Given the description of an element on the screen output the (x, y) to click on. 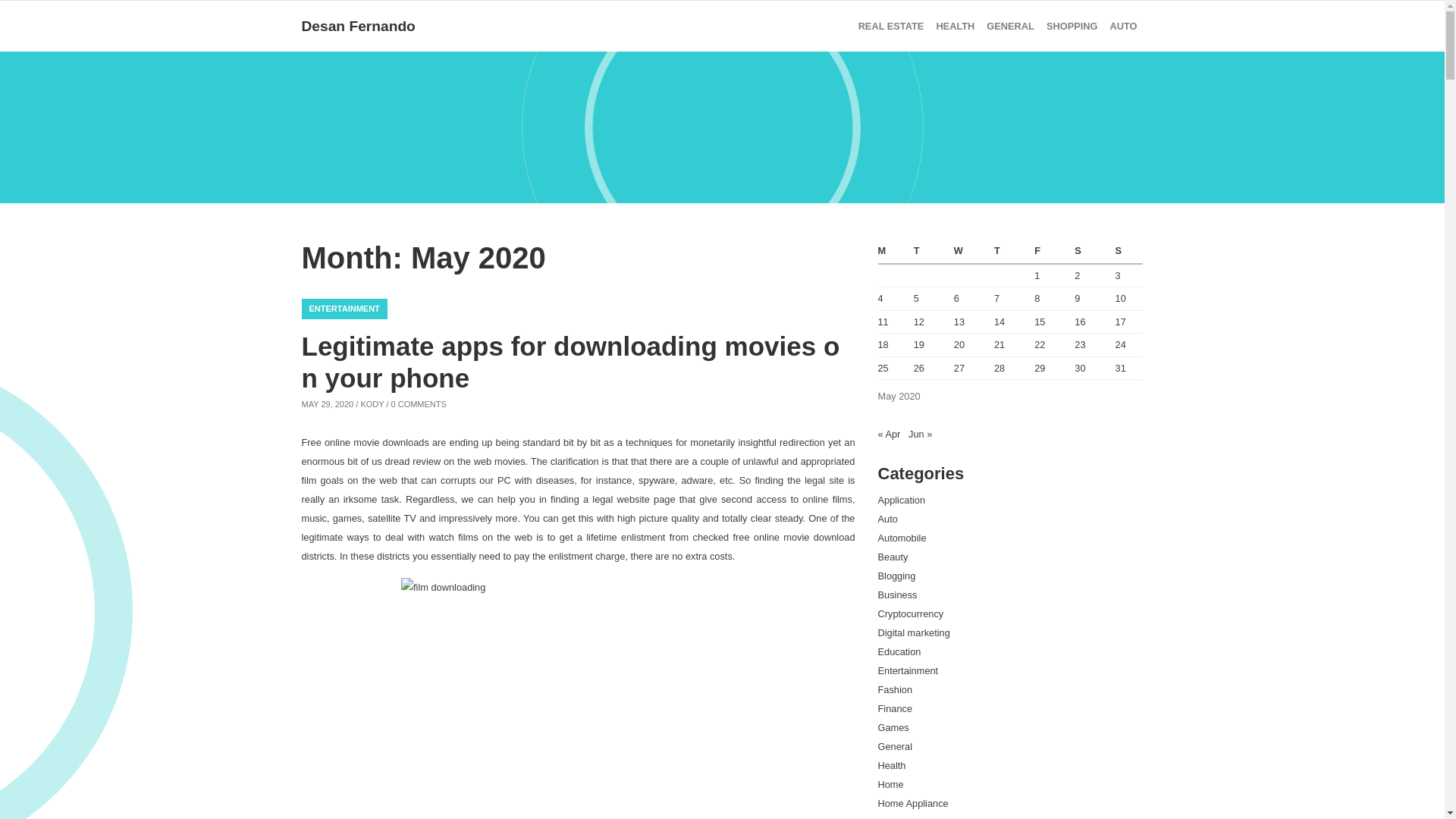
Desan Fernando (357, 25)
Auto (1122, 26)
Legitimate apps for downloading movies on your phone (570, 362)
View all posts by Kody (371, 403)
GENERAL (1010, 26)
HEALTH (954, 26)
Health (954, 26)
Shopping (1072, 26)
Legitimate apps for downloading movies on your phone (570, 362)
SHOPPING (1072, 26)
KODY (371, 403)
AUTO (1122, 26)
General (1010, 26)
Real Estate (890, 26)
REAL ESTATE (890, 26)
